Given the description of an element on the screen output the (x, y) to click on. 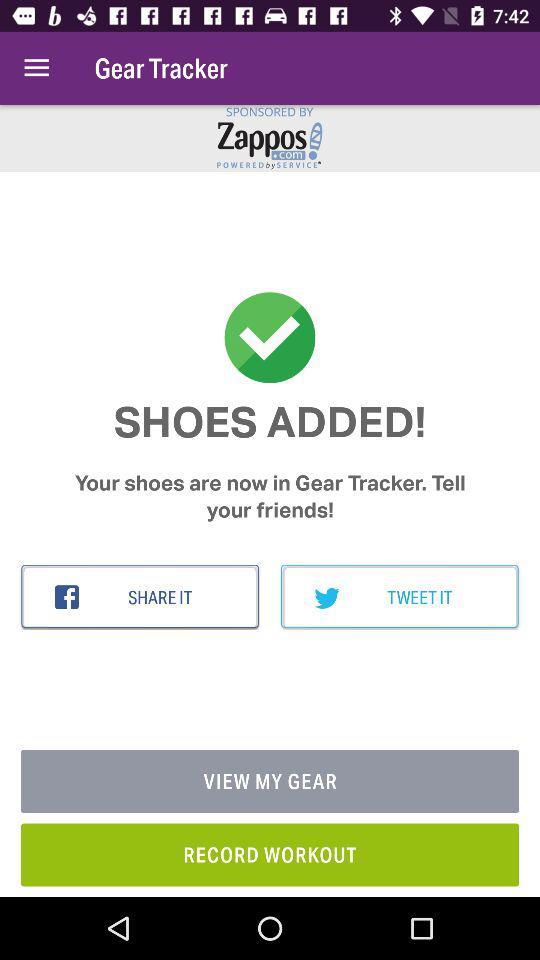
click the share it on the left (140, 597)
